Given the description of an element on the screen output the (x, y) to click on. 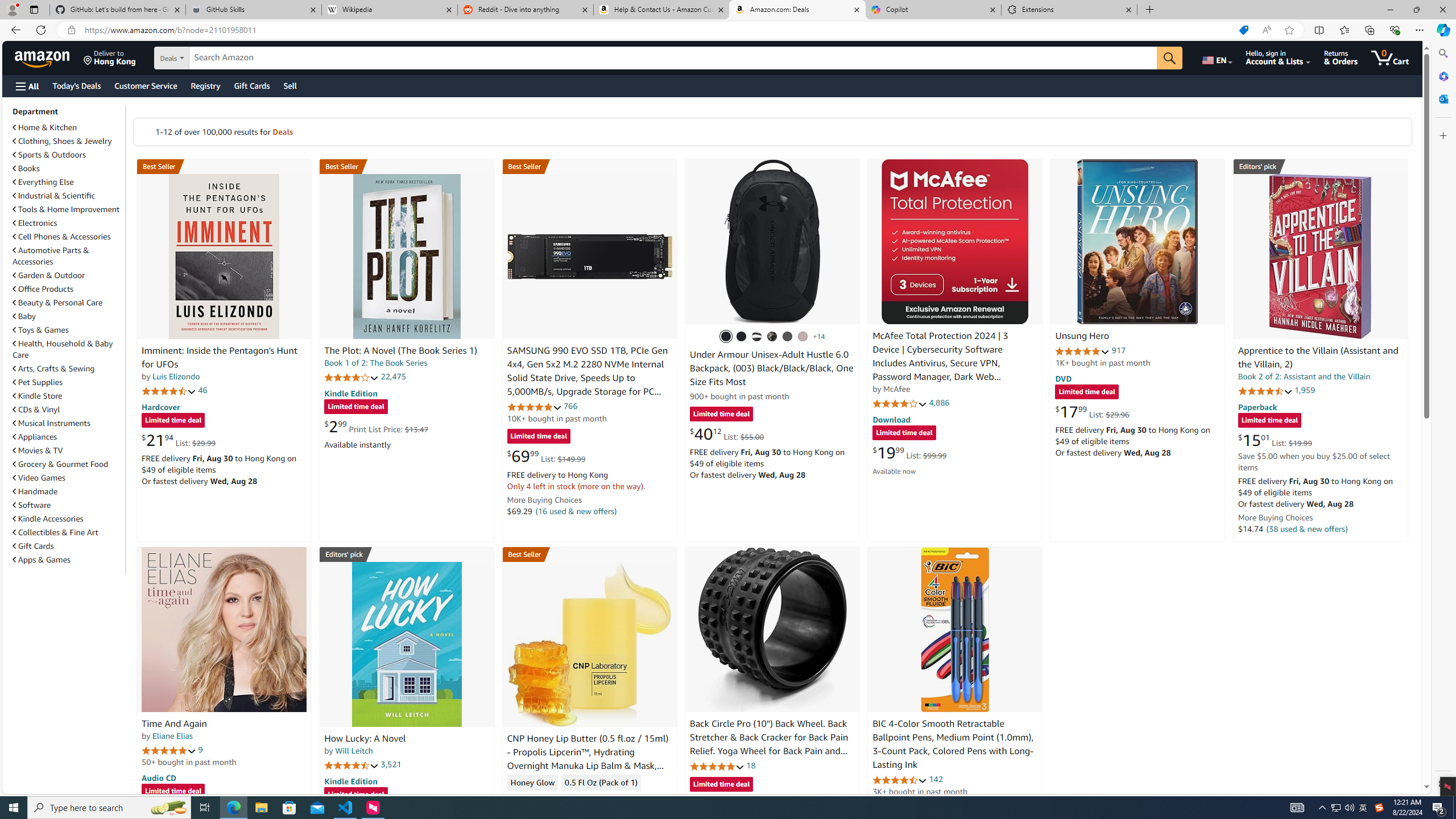
DVD (1063, 378)
Handmade (35, 491)
Kindle Store (37, 395)
18 (750, 764)
+14 (818, 336)
Handmade (67, 491)
Sell (290, 85)
Download (891, 419)
Returns & Orders (1340, 57)
Home & Kitchen (67, 127)
4,886 (938, 402)
(004) Black / Black / Metallic Gold (772, 336)
Automotive Parts & Accessories (67, 255)
